Given the description of an element on the screen output the (x, y) to click on. 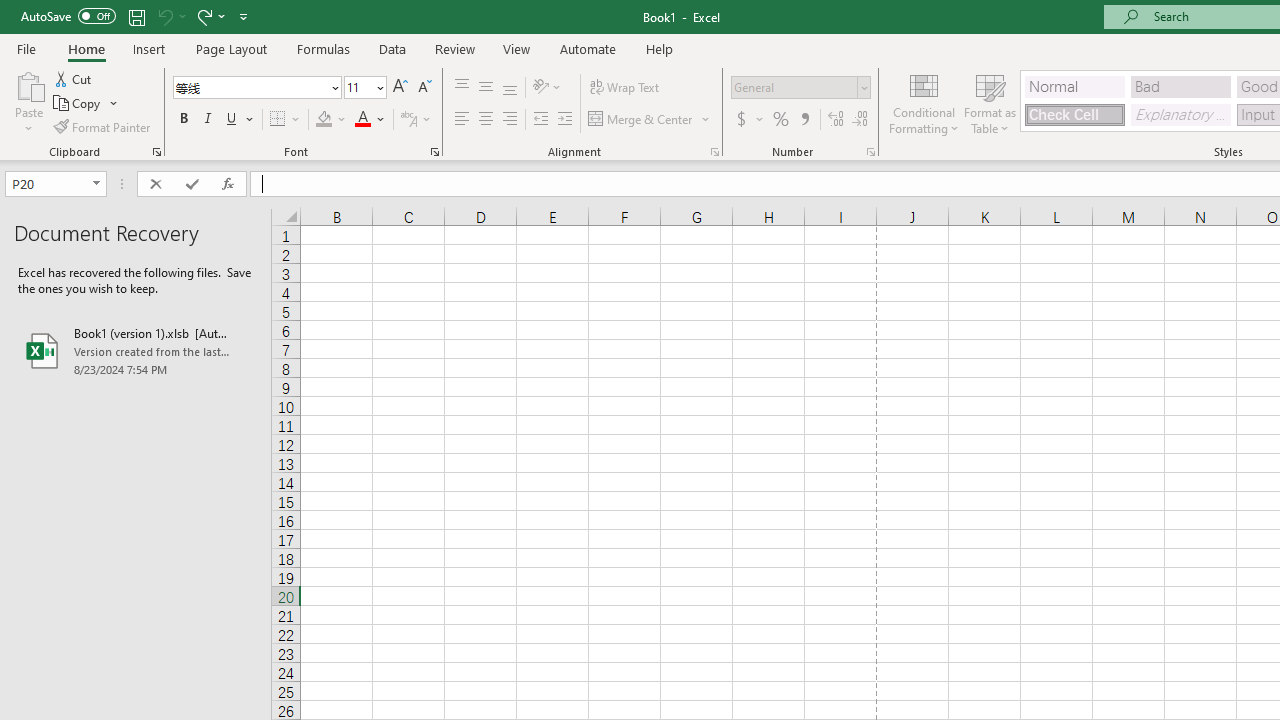
Cut (73, 78)
Font (256, 87)
Align Right (509, 119)
